Given the description of an element on the screen output the (x, y) to click on. 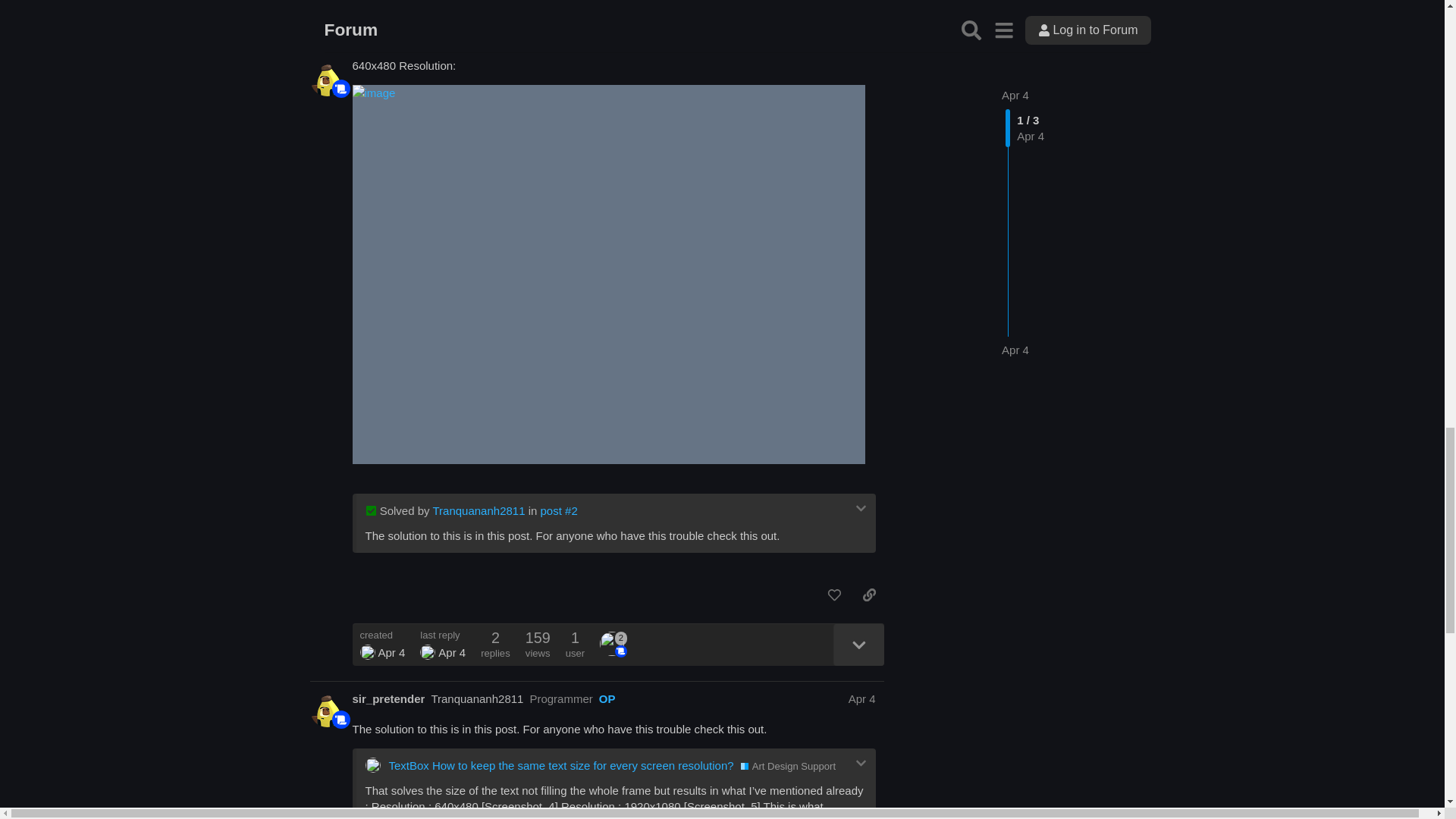
Tranquananh2811 (478, 510)
like this post (833, 595)
Tranquananh2811 (476, 698)
Art Design Support (788, 766)
Apr 4 (862, 698)
last reply (442, 634)
expand topic details (857, 644)
image (613, 21)
share a link to this post (869, 595)
